Given the description of an element on the screen output the (x, y) to click on. 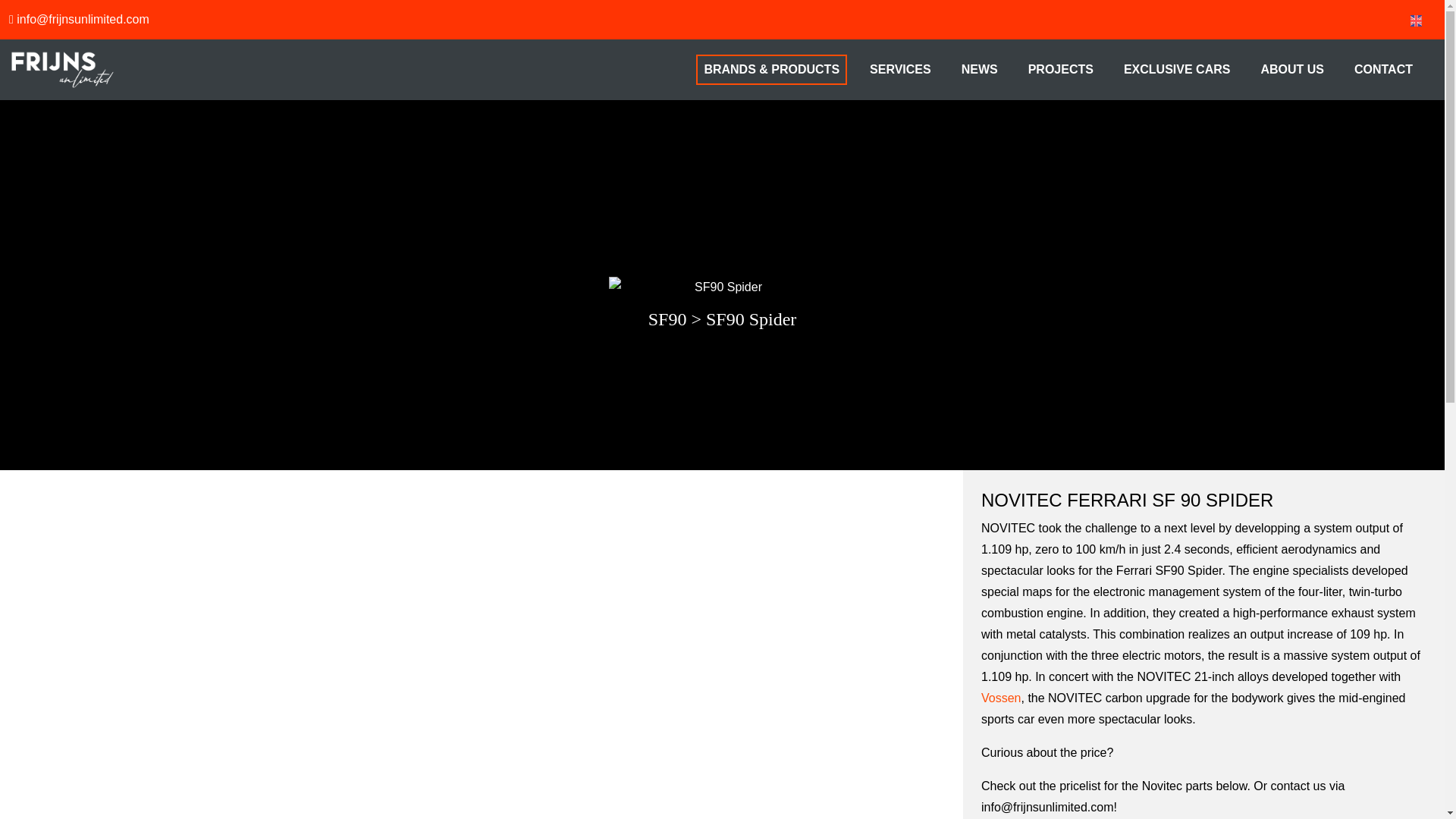
Vossen (1000, 697)
PROJECTS (1060, 69)
ABOUT US (1292, 69)
SERVICES (900, 69)
CONTACT (1383, 69)
EXCLUSIVE CARS (1176, 69)
